Given the description of an element on the screen output the (x, y) to click on. 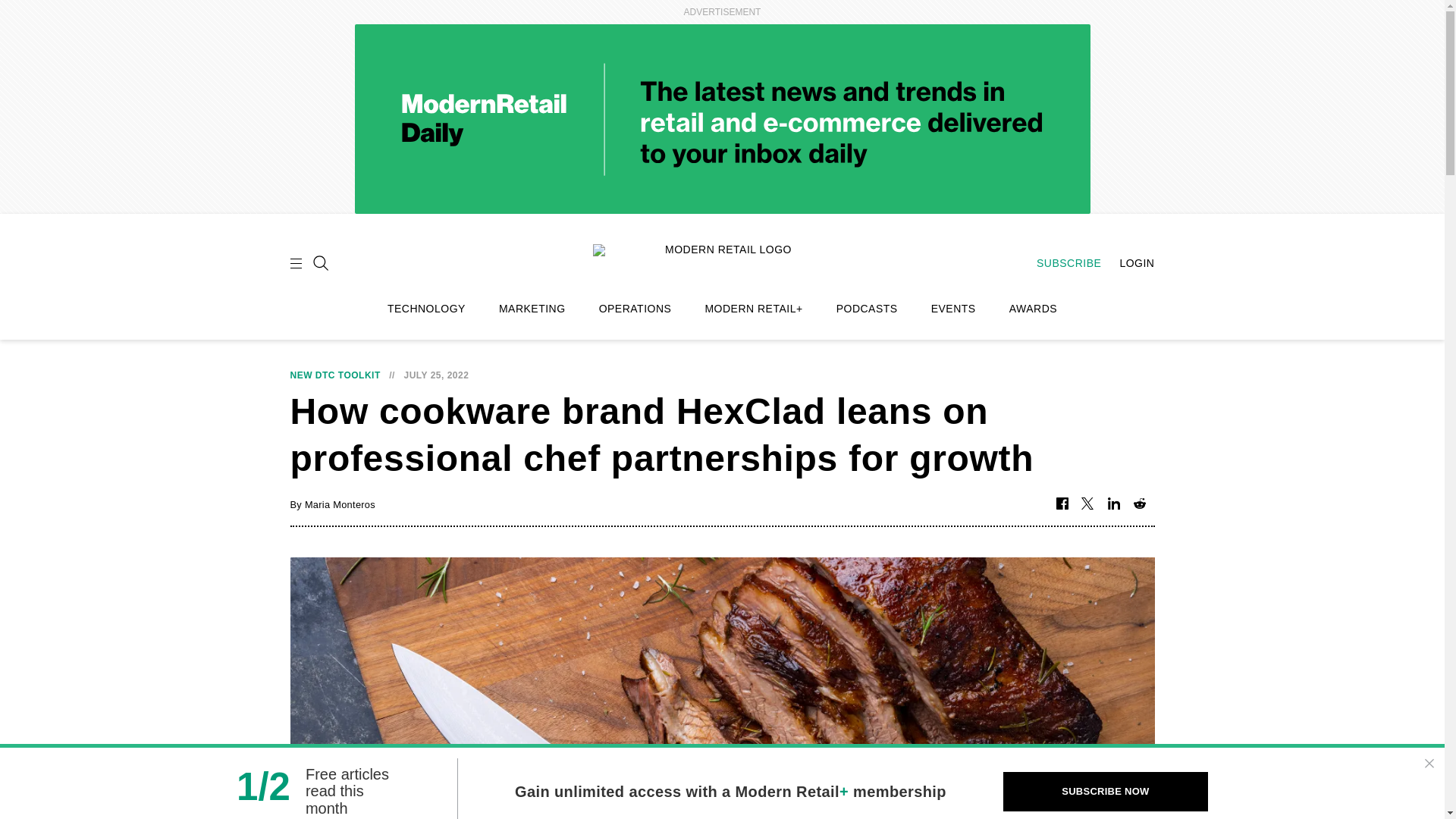
PODCASTS (866, 308)
Share on Twitter (1087, 504)
EVENTS (953, 308)
AWARDS (1033, 308)
Share on Facebook (1061, 504)
OPERATIONS (634, 308)
MARKETING (532, 308)
TECHNOLOGY (426, 308)
SUBSCRIBE (1061, 262)
Share on LinkedIn (1113, 504)
Modern Retail home (722, 261)
LOGIN (1128, 262)
